Given the description of an element on the screen output the (x, y) to click on. 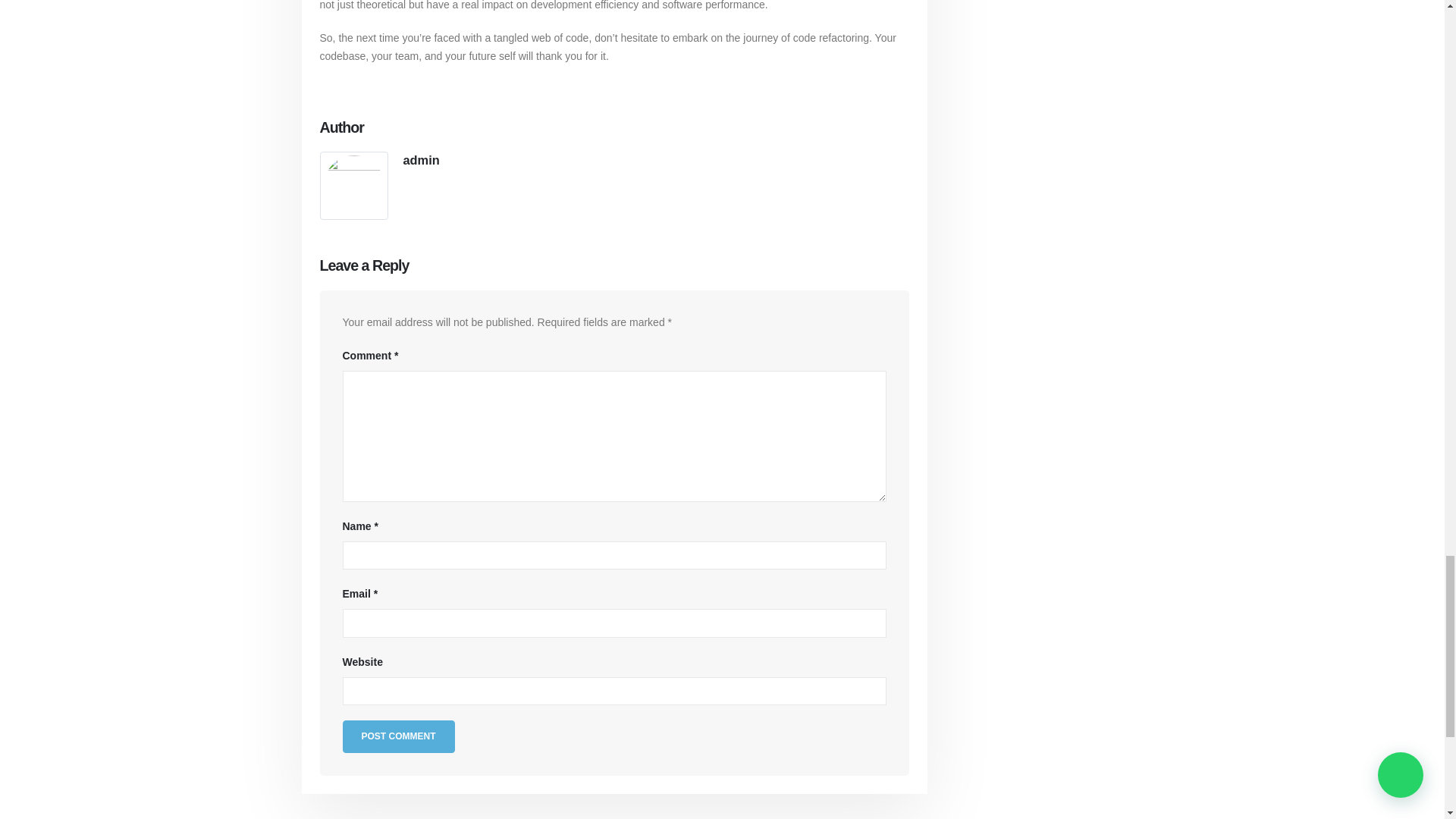
Posts by admin (421, 160)
Post Comment (398, 736)
